Given the description of an element on the screen output the (x, y) to click on. 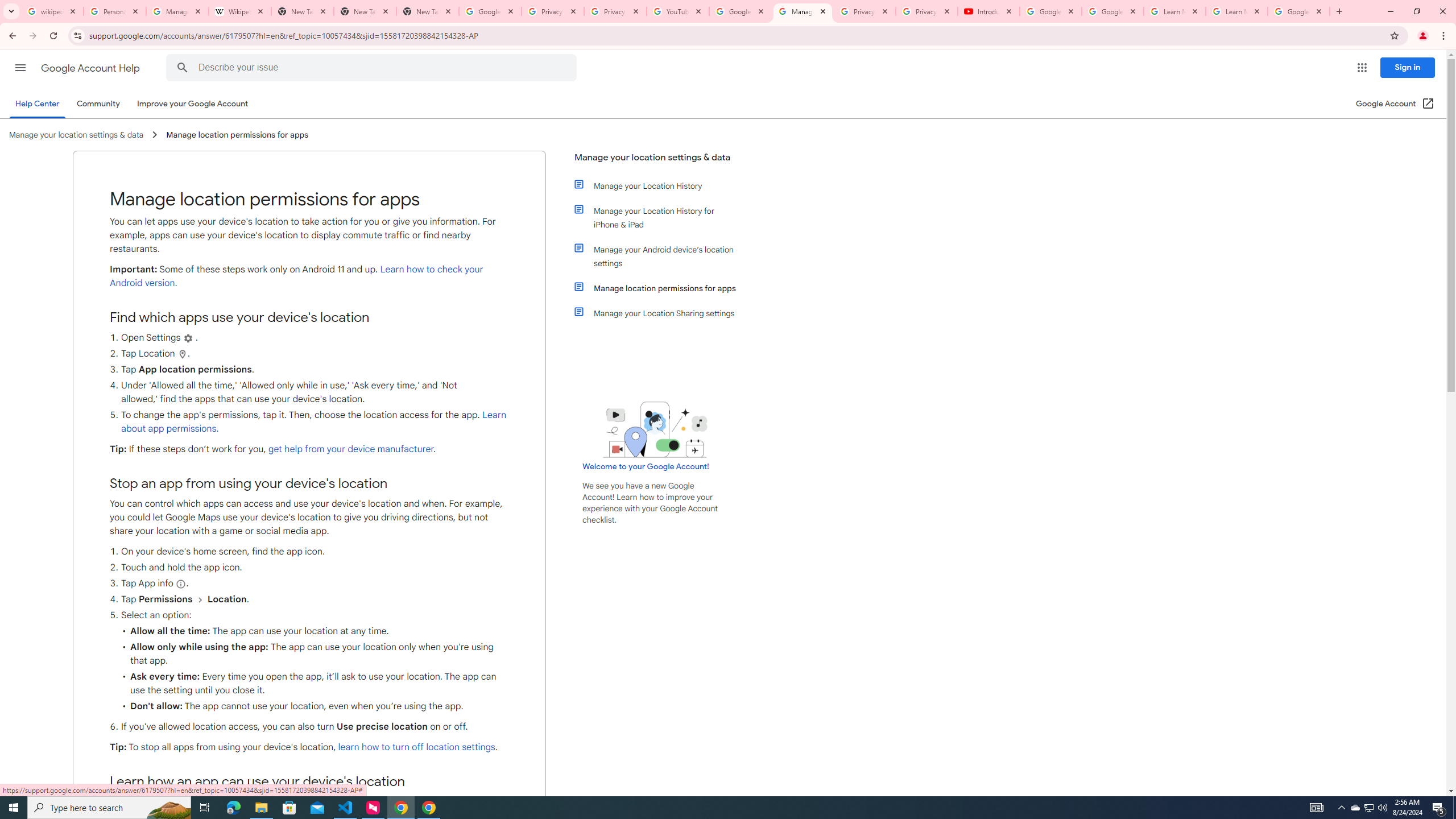
Manage your location settings & data (656, 161)
Google Account Help (1111, 11)
Welcome to your Google Account! (645, 466)
Community (97, 103)
Learning Center home page image (655, 429)
get help from your device manufacturer (350, 449)
Google Account Help (740, 11)
Personalization & Google Search results - Google Search Help (114, 11)
and then (200, 599)
learn how to turn off location settings (416, 747)
